Given the description of an element on the screen output the (x, y) to click on. 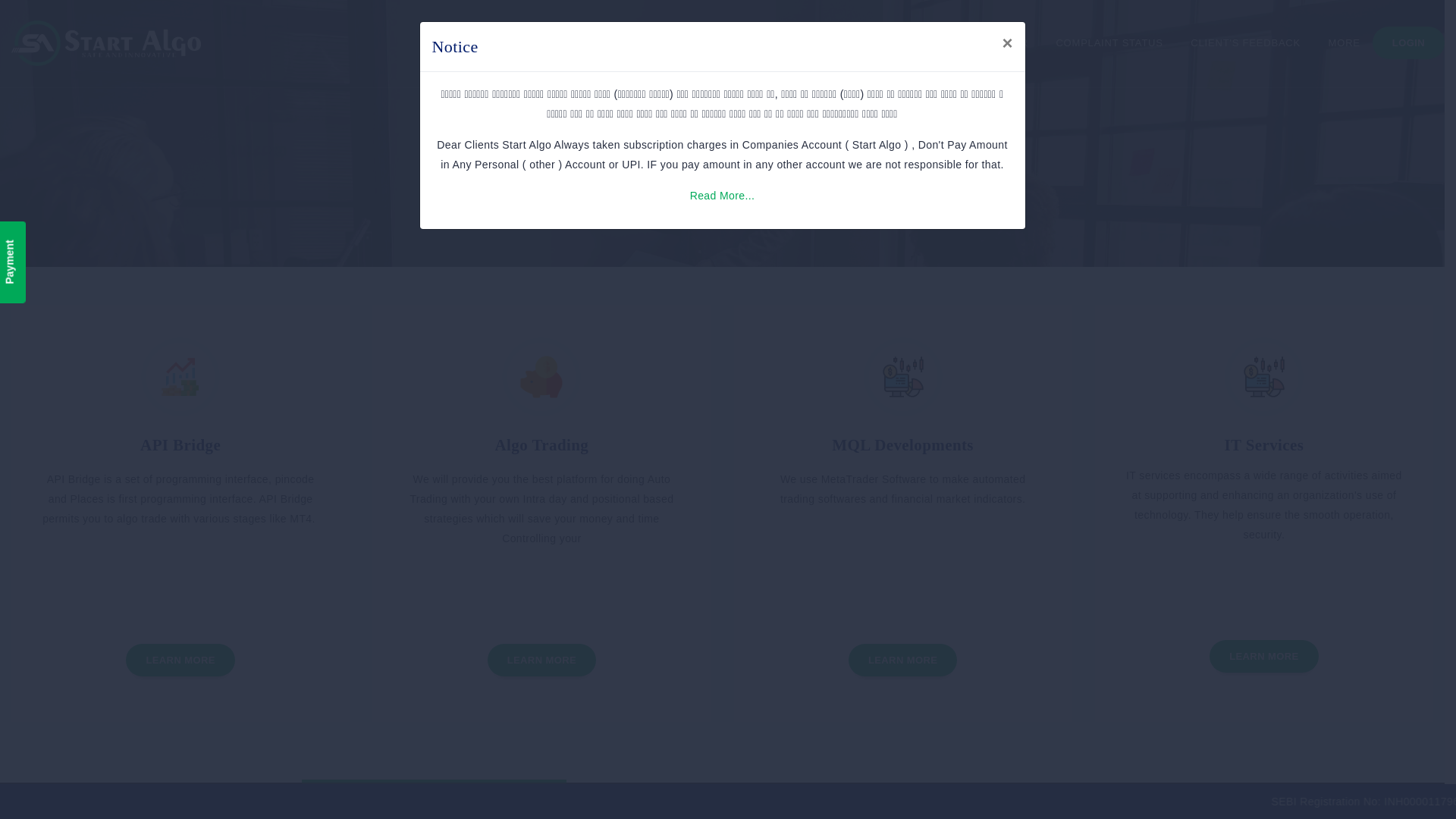
LEARN MORE (902, 658)
Algo Trading (542, 444)
LEARN MORE (541, 658)
LEARN MORE (1263, 655)
LEARN MORE (179, 658)
COMPLAINT STATUS (1108, 43)
IT Services (1263, 444)
LOGIN (1408, 42)
API Bridge (180, 444)
MQL Developments (902, 444)
